Given the description of an element on the screen output the (x, y) to click on. 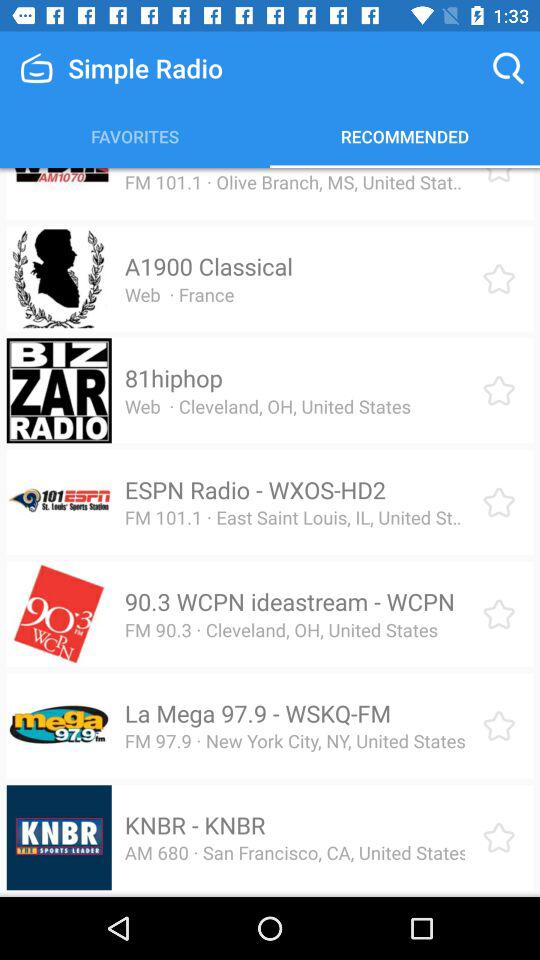
tap the icon above the recommended (508, 67)
